Given the description of an element on the screen output the (x, y) to click on. 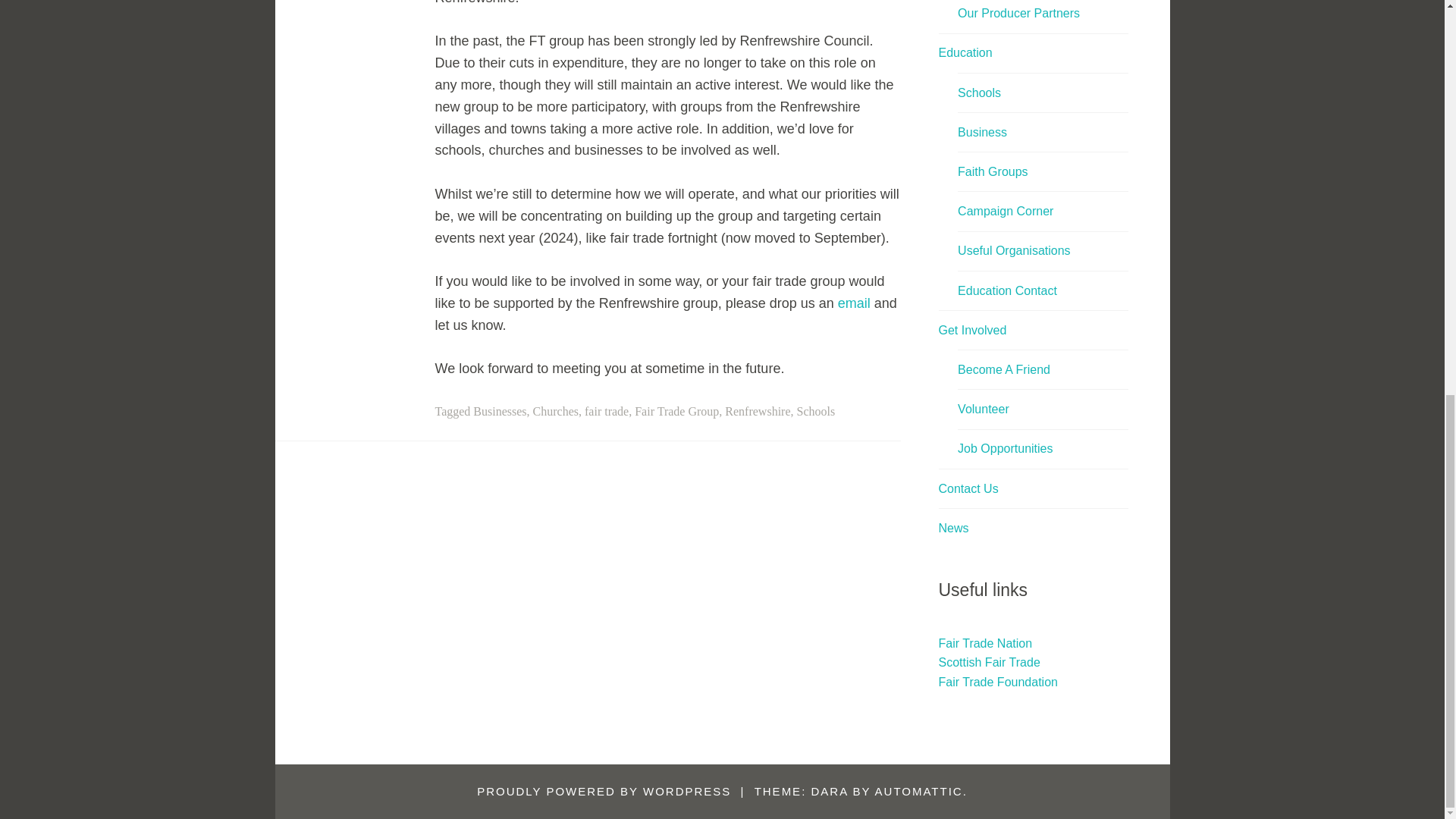
fair trade (606, 410)
Fair Trade Group (676, 410)
Schools (815, 410)
Renfrewshire (757, 410)
email (854, 303)
Churches (555, 410)
Businesses (499, 410)
